Given the description of an element on the screen output the (x, y) to click on. 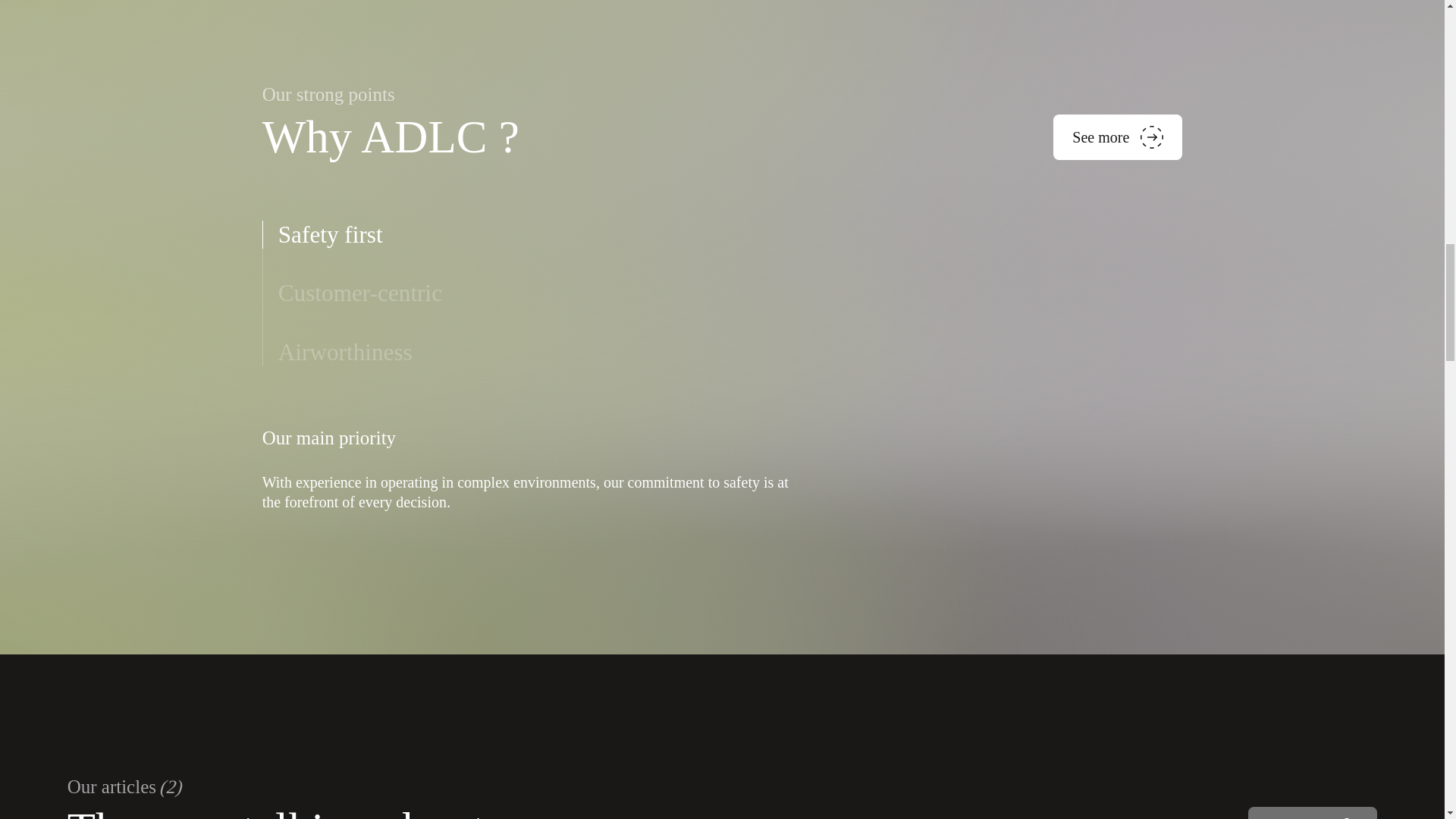
Airworthiness (345, 352)
See more (1117, 136)
Customer-centric (360, 293)
Safety first (330, 234)
See more (1312, 812)
